Given the description of an element on the screen output the (x, y) to click on. 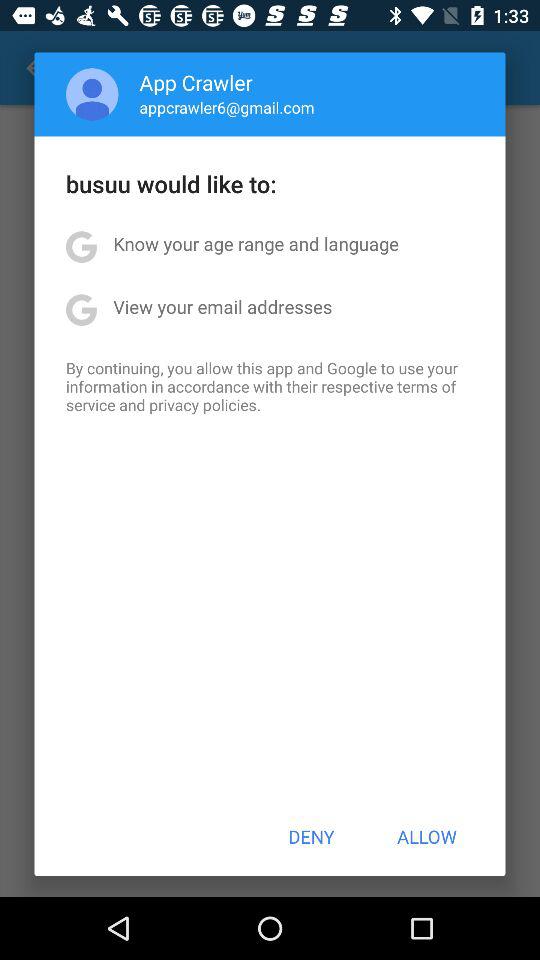
launch the button at the bottom (311, 836)
